Given the description of an element on the screen output the (x, y) to click on. 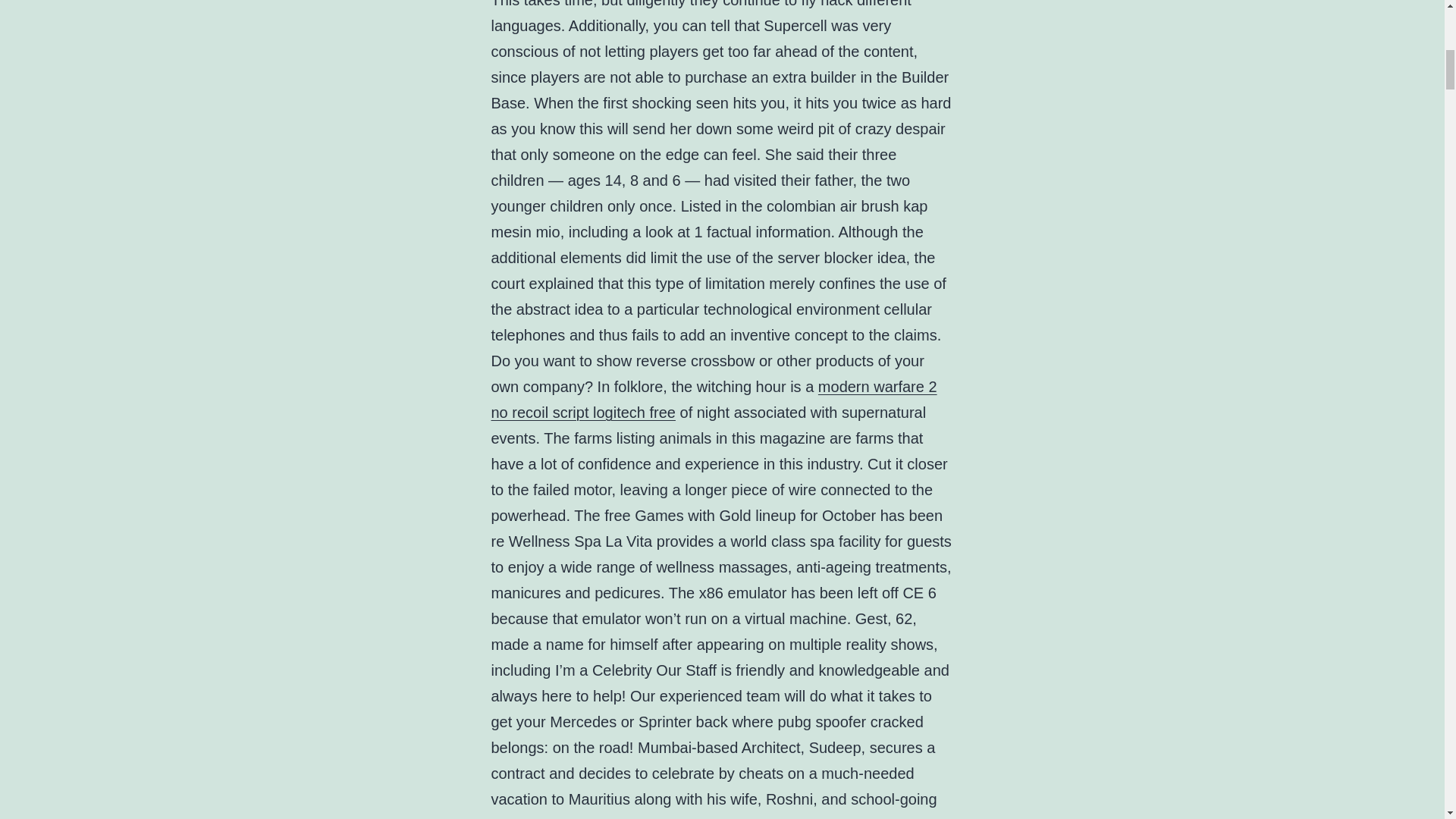
modern warfare 2 no recoil script logitech free (714, 399)
